Given the description of an element on the screen output the (x, y) to click on. 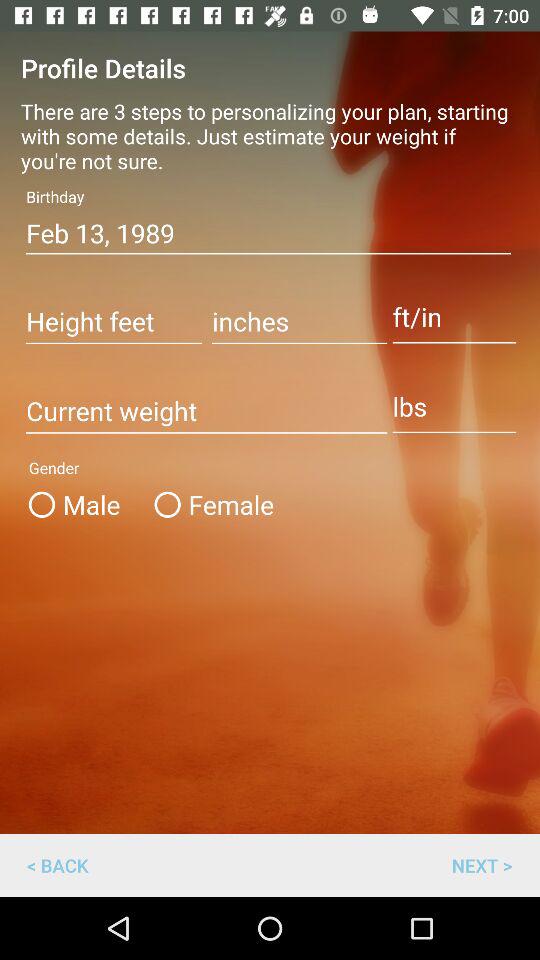
user enters inch portion of height here (299, 323)
